Given the description of an element on the screen output the (x, y) to click on. 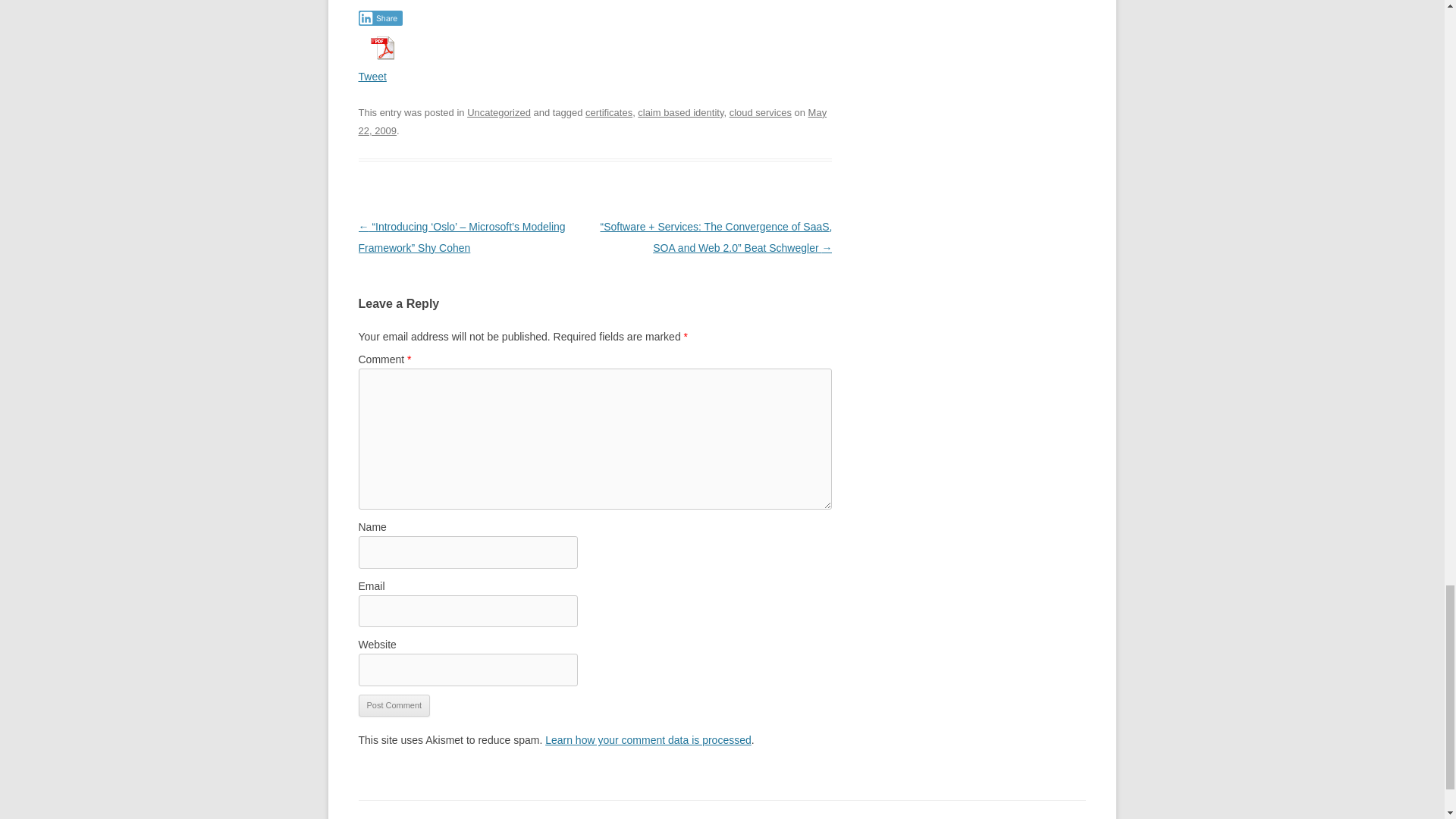
Post Comment (393, 705)
cloud services (760, 112)
Learn how your comment data is processed (647, 739)
10:37 am (592, 121)
Post Comment (393, 705)
claim based identity (680, 112)
Uncategorized (499, 112)
May 22, 2009 (592, 121)
Tweet (371, 76)
certificates (608, 112)
View PDF (381, 47)
Share (380, 17)
